Given the description of an element on the screen output the (x, y) to click on. 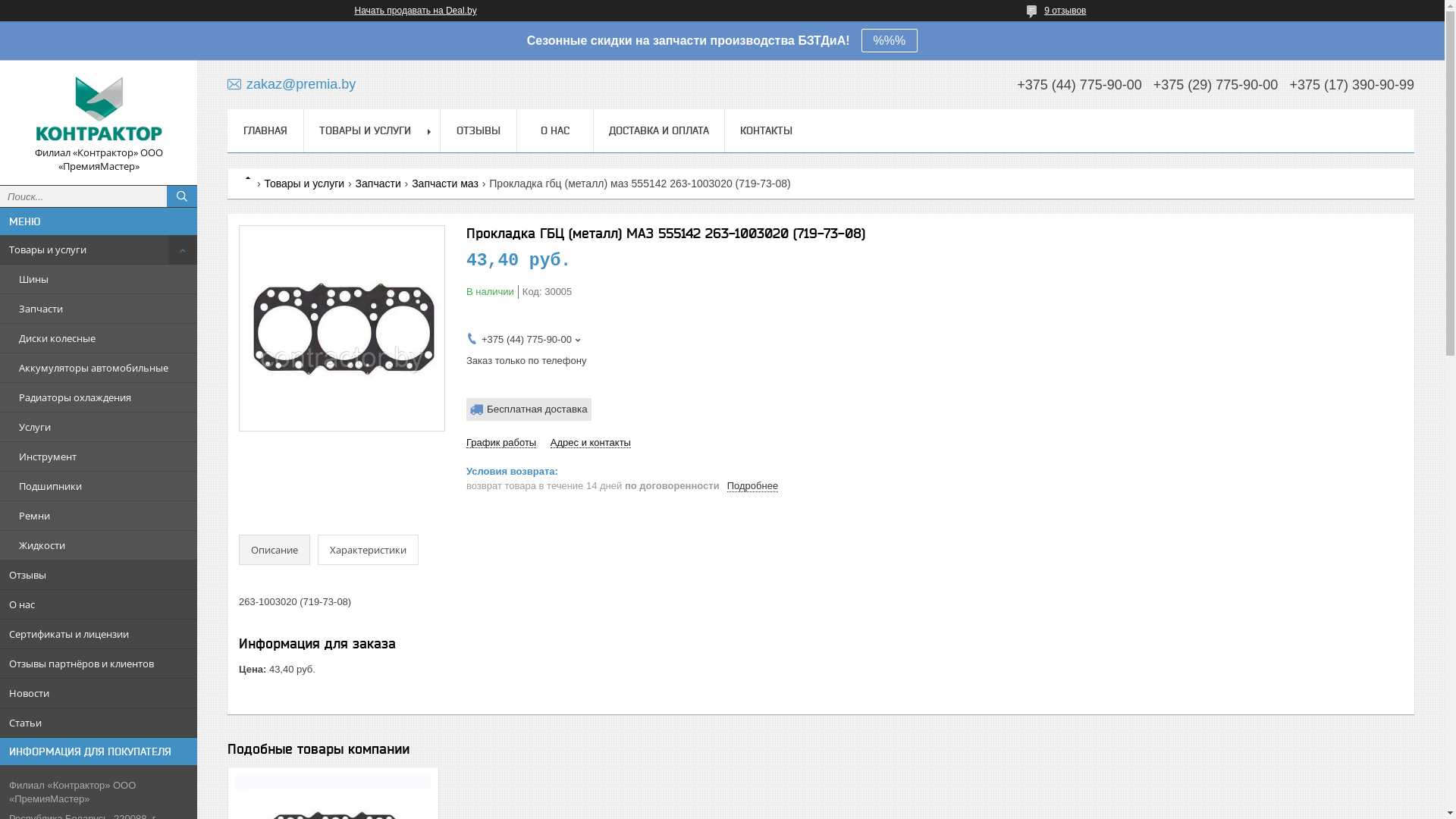
zakaz@premia.by Element type: text (291, 83)
%%% Element type: text (889, 40)
